Given the description of an element on the screen output the (x, y) to click on. 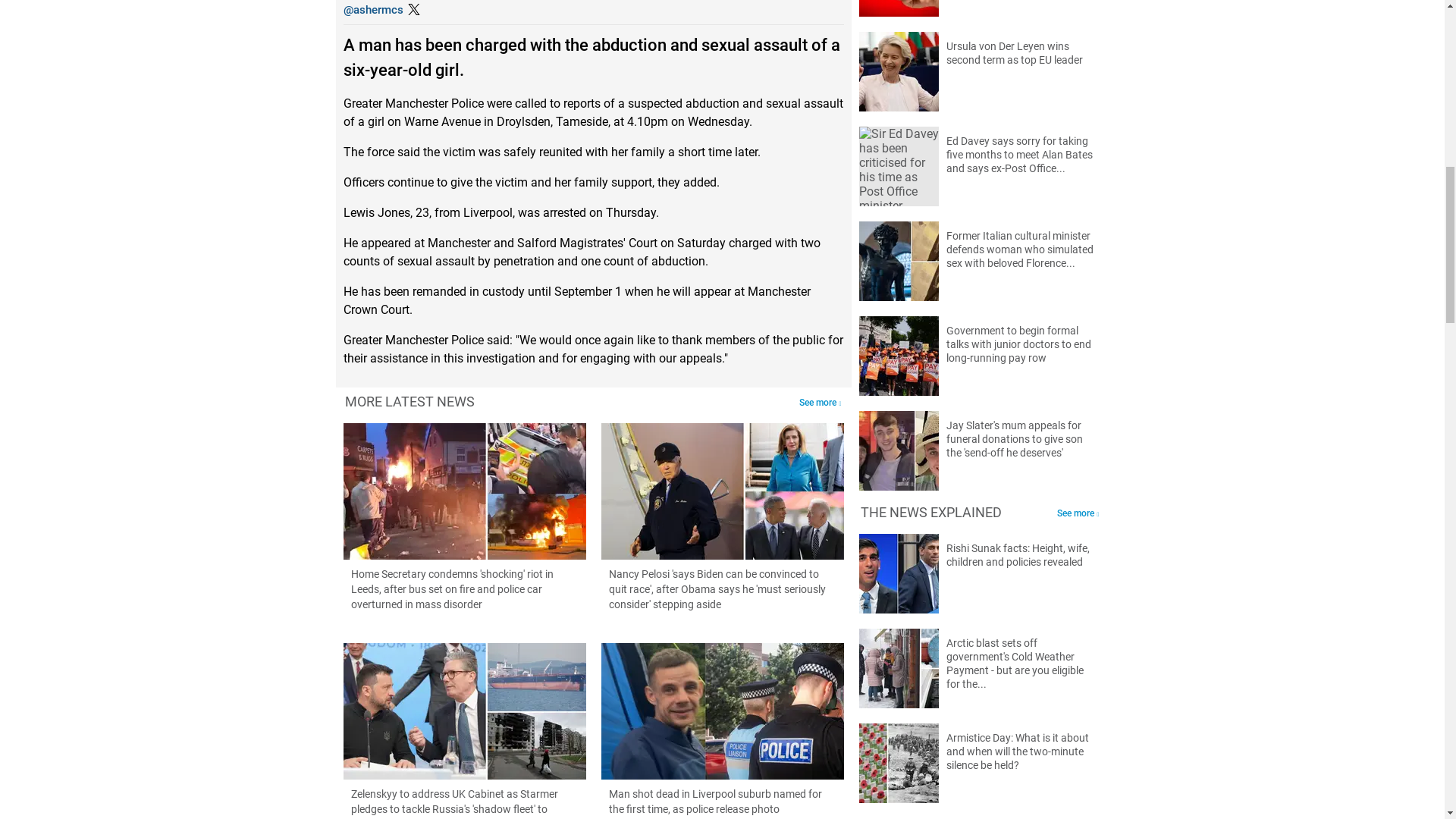
Follow Asher McShane on X (372, 9)
